Given the description of an element on the screen output the (x, y) to click on. 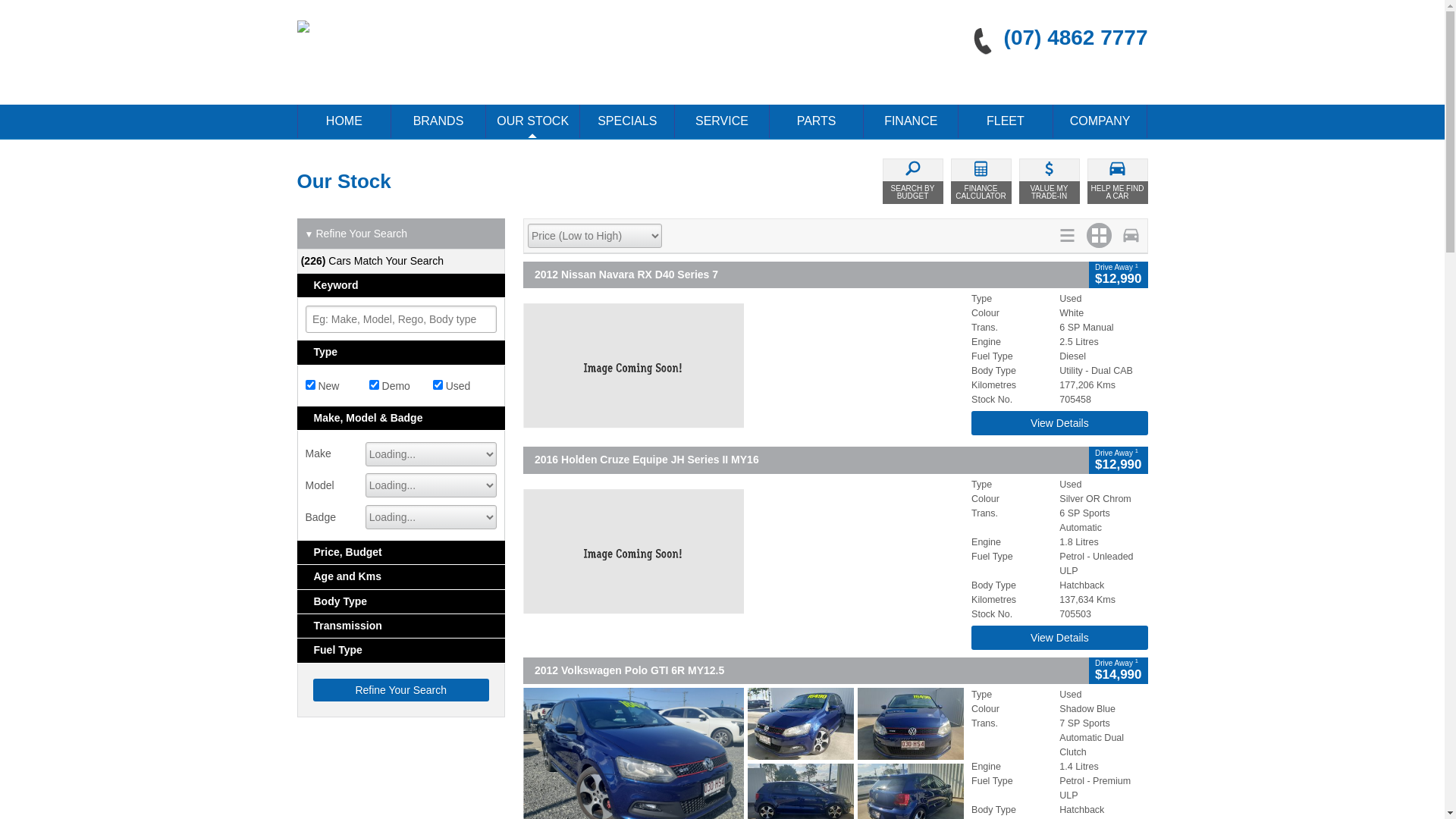
2016 Holden Cruze Element type: hover (743, 550)
BRANDS Element type: text (438, 121)
2012 Nissan Navara RX D40 Series 7 Element type: text (805, 274)
VALUE MY TRADE-IN Element type: text (1049, 180)
PARTS Element type: text (816, 121)
Type Element type: text (401, 352)
FINANCE Element type: text (910, 121)
COMPANY Element type: text (1100, 121)
Drive Away 1
$12,990 Element type: text (1117, 459)
HELP ME FIND A CAR Element type: text (1117, 180)
OUR STOCK Element type: text (533, 121)
SPECIALS Element type: text (627, 121)
2012 Volkswagen Polo GTI 6R MY12.5 Element type: text (805, 670)
Transmission Element type: text (401, 625)
Keyword Element type: text (401, 285)
View Details Element type: text (1059, 423)
Age and Kms Element type: text (401, 576)
FINANCE CALCULATOR Element type: text (980, 180)
HOME Element type: text (343, 121)
Make, Model & Badge Element type: text (401, 417)
SEARCH BY BUDGET Element type: text (912, 180)
Drive Away 1
$14,990 Element type: text (1117, 670)
2016 Holden Cruze Equipe JH Series II MY16 Element type: text (805, 459)
Price, Budget Element type: text (401, 552)
SERVICE Element type: text (721, 121)
View Details Element type: text (1059, 637)
Body Type Element type: text (401, 601)
2012 Nissan Navara Element type: hover (743, 365)
Drive Away 1
$12,990 Element type: text (1117, 274)
Refine Your Search Element type: text (400, 689)
Fuel Type Element type: text (401, 650)
(07) 4862 7777 Element type: text (1054, 37)
FLEET Element type: text (1005, 121)
